Given the description of an element on the screen output the (x, y) to click on. 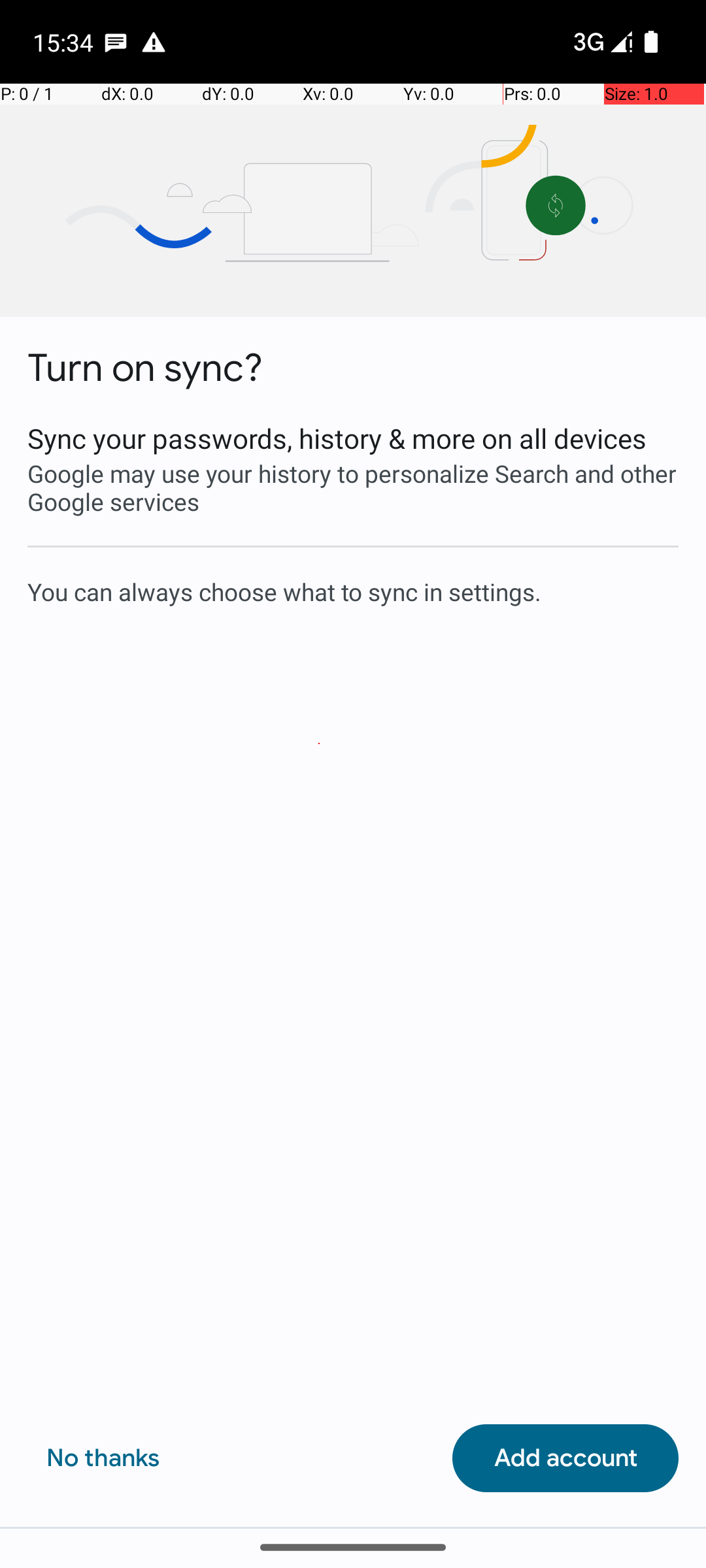
No thanks Element type: android.widget.Button (102, 1458)
Add account Element type: android.widget.Button (565, 1458)
Turn on sync? Element type: android.widget.TextView (144, 368)
Sync your passwords, history & more on all devices Element type: android.widget.TextView (352, 437)
Google may use your history to personalize Search and other Google services Element type: android.widget.TextView (352, 487)
You can always choose what to sync in settings. Element type: android.widget.TextView (352, 591)
